Given the description of an element on the screen output the (x, y) to click on. 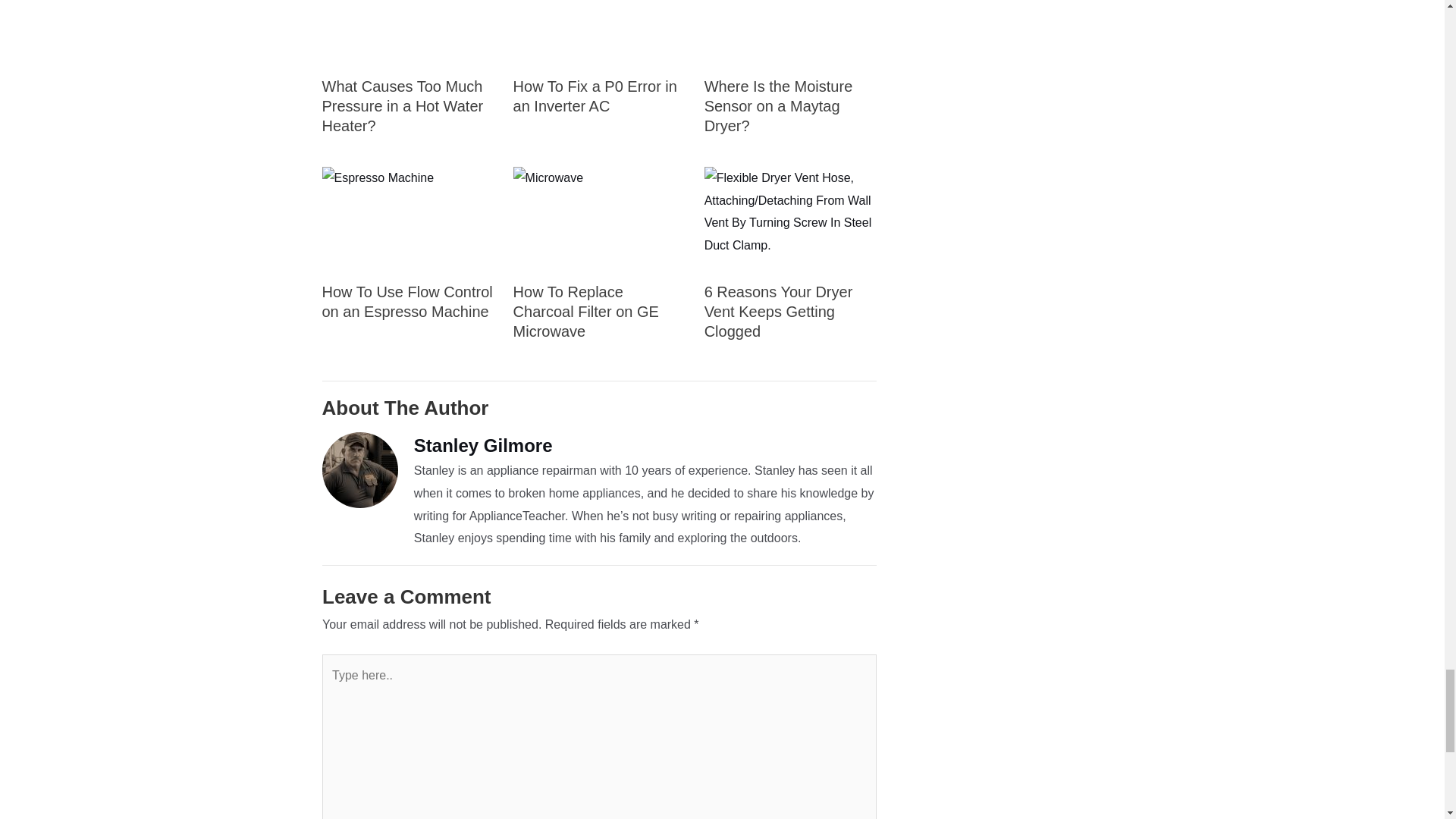
How To Replace Charcoal Filter On Ge Microwave 5 (599, 218)
What Causes Too Much Pressure In A Hot Water Heater? 1 (407, 32)
6 Reasons Your Dryer Vent Keeps Getting Clogged 6 (790, 218)
Where Is The Moisture Sensor On A Maytag Dryer? 3 (790, 32)
How To Fix A P0 Error In An Inverter Ac 2 (599, 32)
How To Use Flow Control On An Espresso Machine 4 (407, 218)
